Given the description of an element on the screen output the (x, y) to click on. 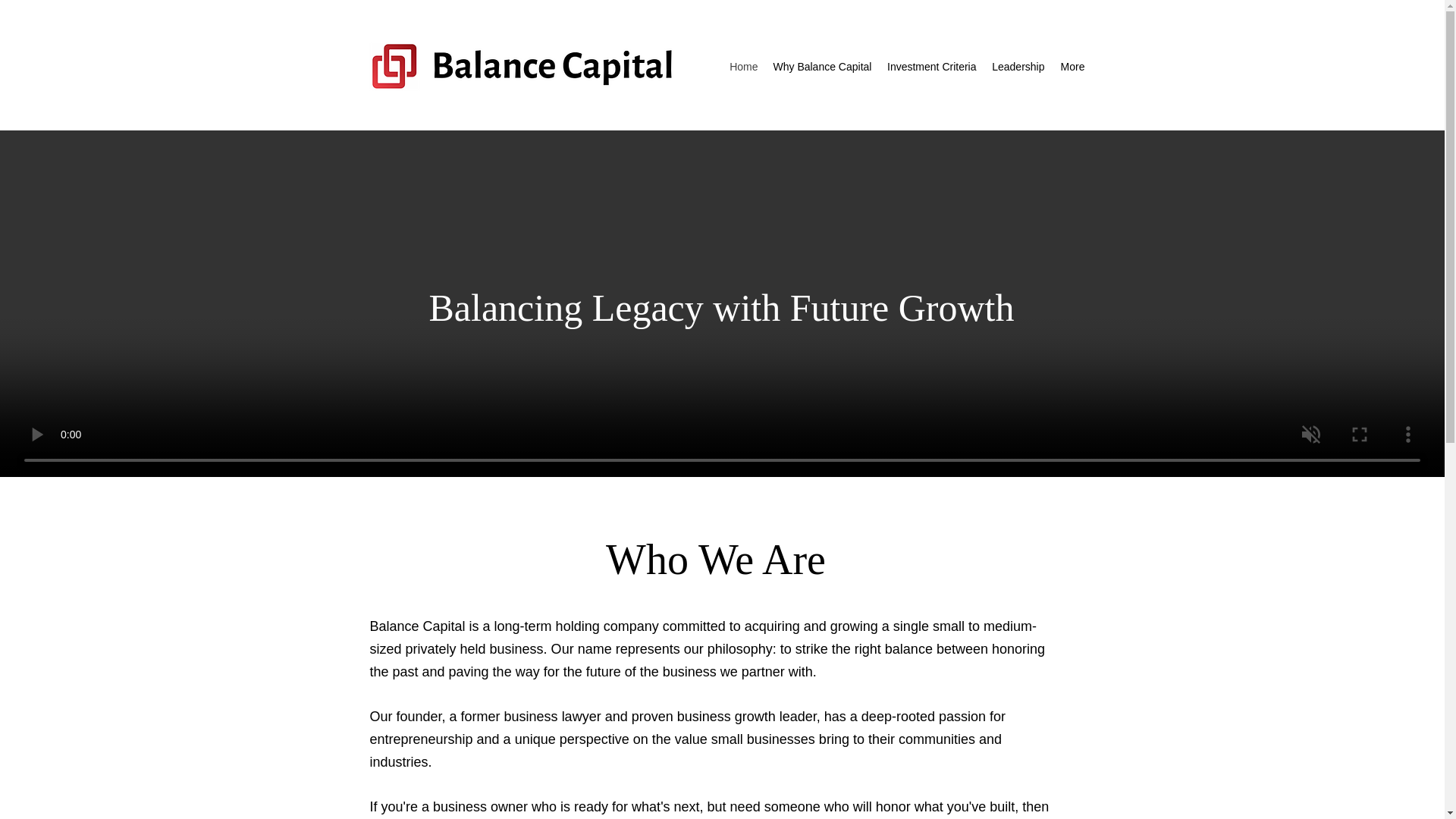
Why Balance Capital (821, 66)
Leadership (1018, 66)
Investment Criteria (930, 66)
Home (743, 66)
